Given the description of an element on the screen output the (x, y) to click on. 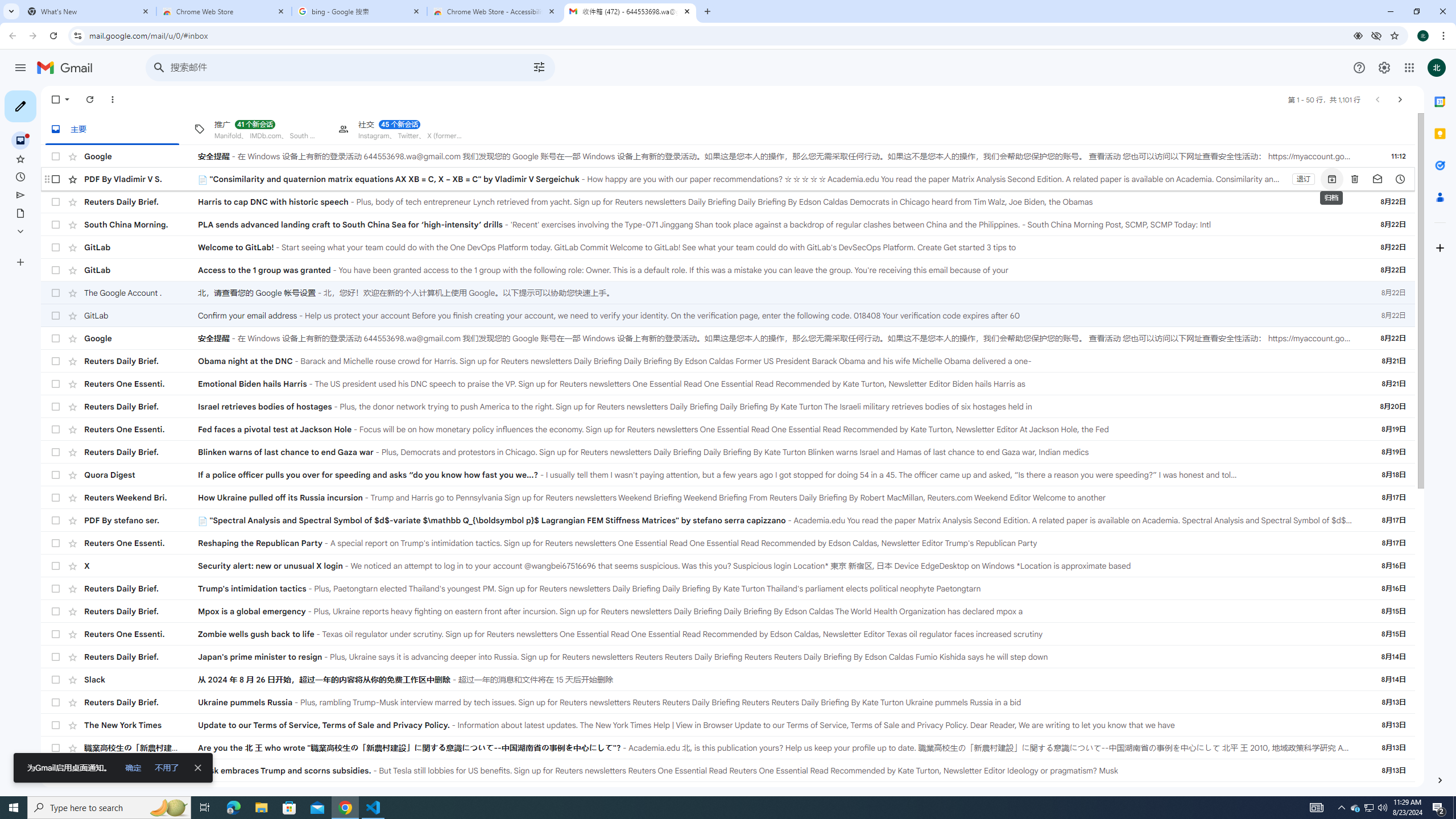
The New York Times (141, 724)
AutomationID: Layer_1 (1439, 780)
